Given the description of an element on the screen output the (x, y) to click on. 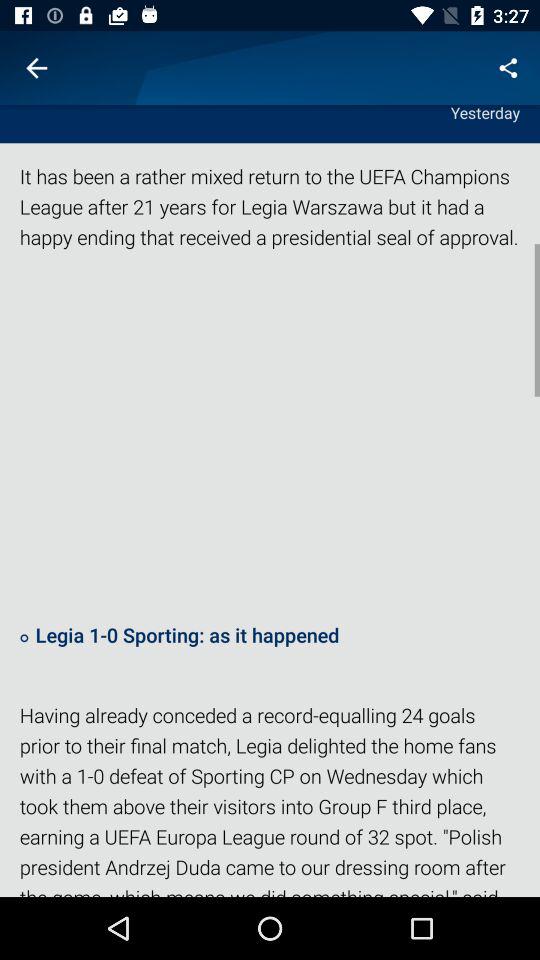
open icon above yesterday item (508, 67)
